Given the description of an element on the screen output the (x, y) to click on. 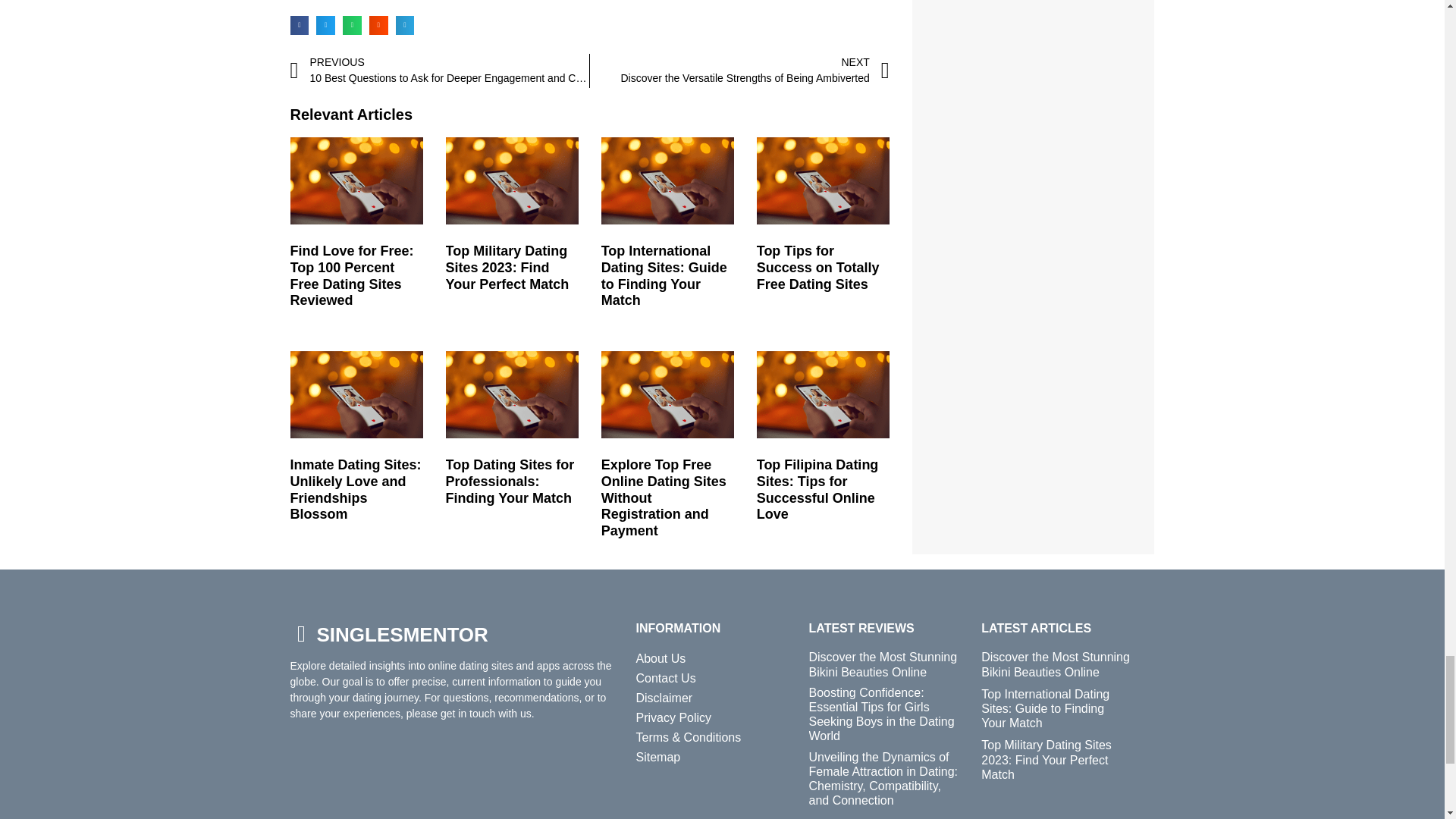
Top Dating Sites for Professionals: Finding Your Match (510, 481)
Top Tips for Success on Totally Free Dating Sites (818, 267)
Top Filipina Dating Sites: Tips for Successful Online Love (818, 489)
Top Military Dating Sites 2023: Find Your Perfect Match (739, 70)
Inmate Dating Sites: Unlikely Love and Friendships Blossom (507, 267)
Top International Dating Sites: Guide to Finding Your Match (354, 489)
